Given the description of an element on the screen output the (x, y) to click on. 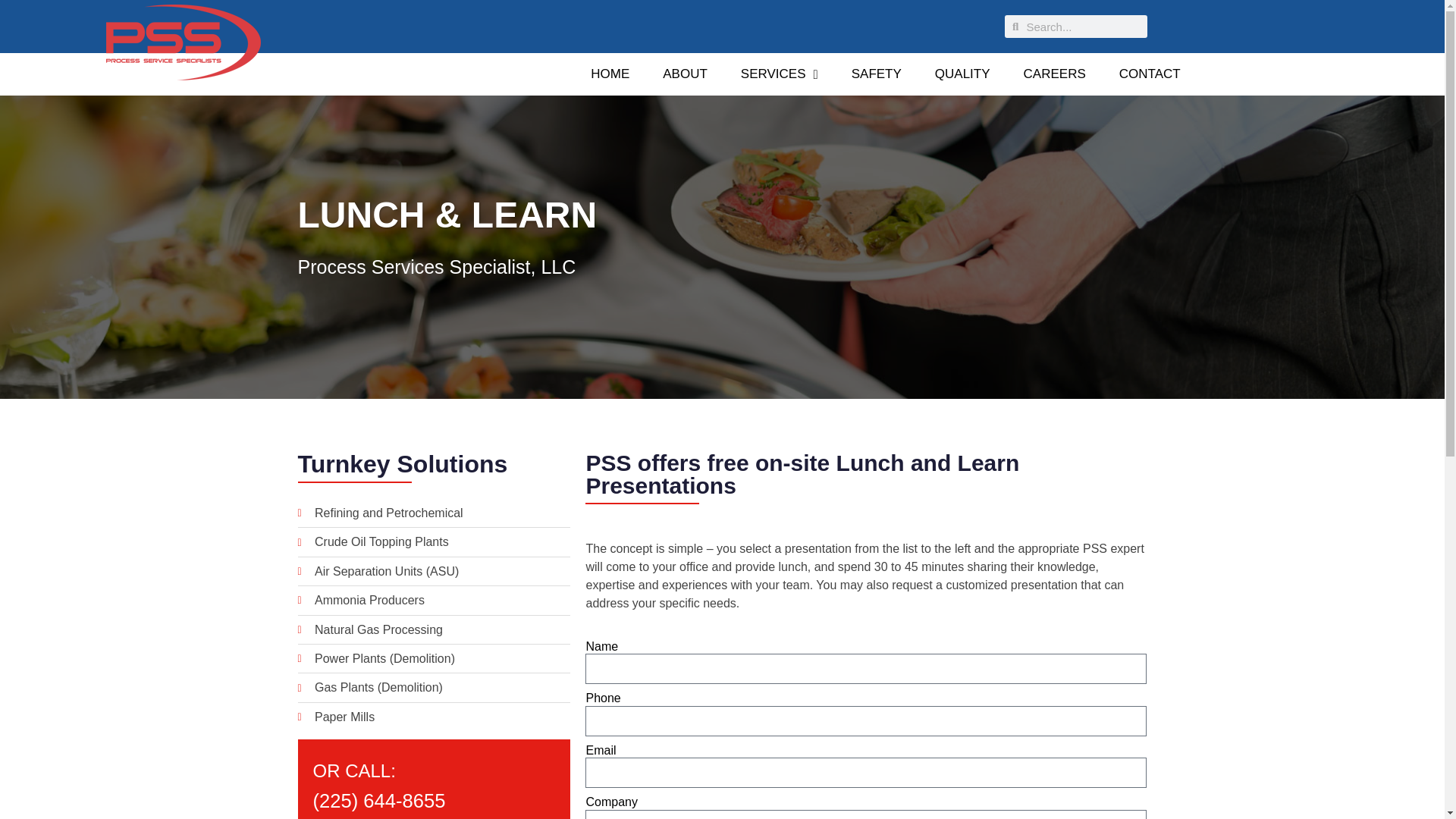
QUALITY (963, 73)
CONTACT (1149, 73)
SAFETY (876, 73)
CAREERS (1054, 73)
ABOUT (684, 73)
SERVICES (778, 73)
HOME (610, 73)
